Given the description of an element on the screen output the (x, y) to click on. 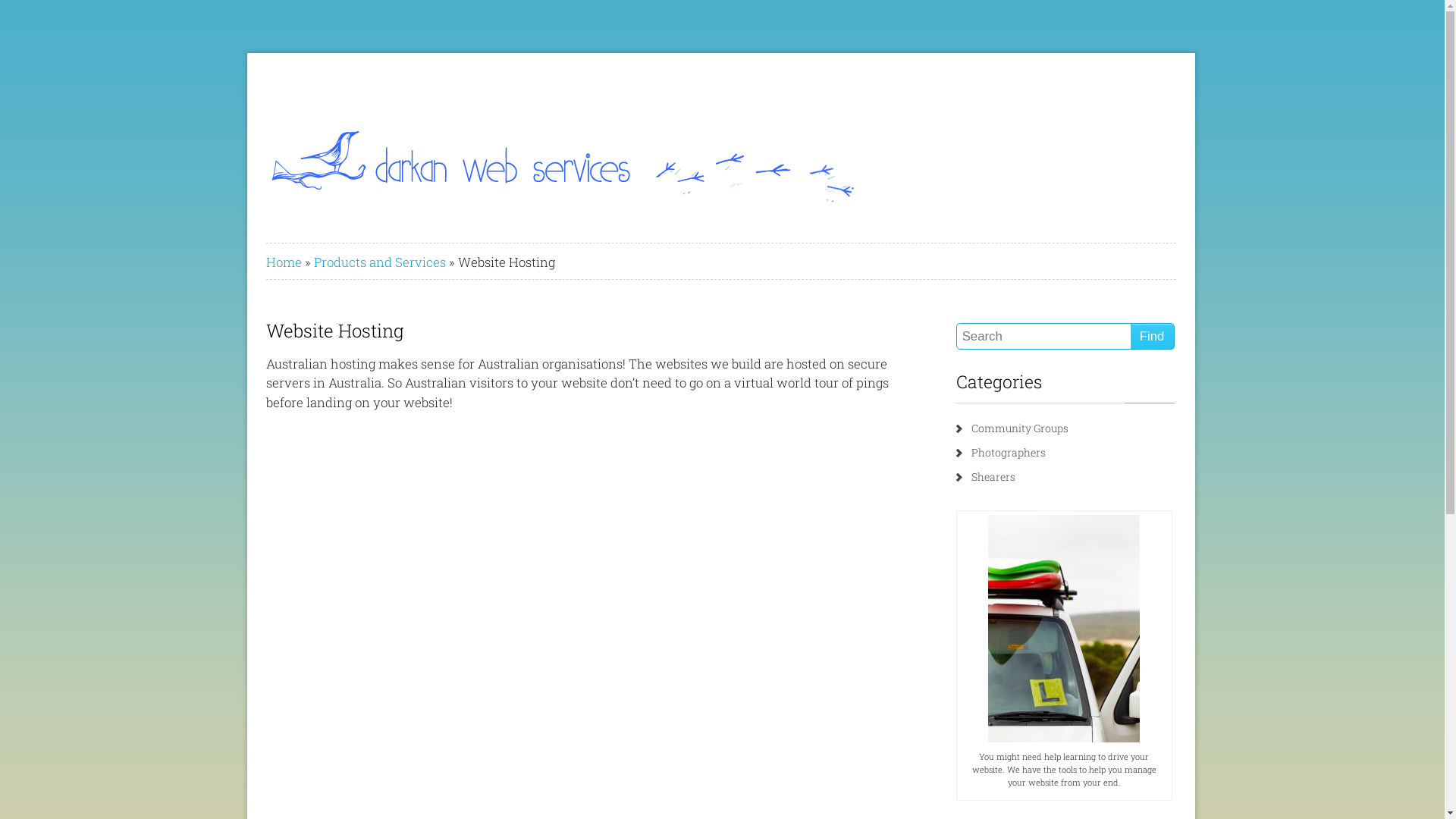
Home Element type: text (283, 261)
Community Groups Element type: text (1019, 427)
Products and Services Element type: text (379, 261)
Find Element type: text (1151, 335)
Shearers Element type: text (993, 476)
Photographers Element type: text (1008, 452)
